Given the description of an element on the screen output the (x, y) to click on. 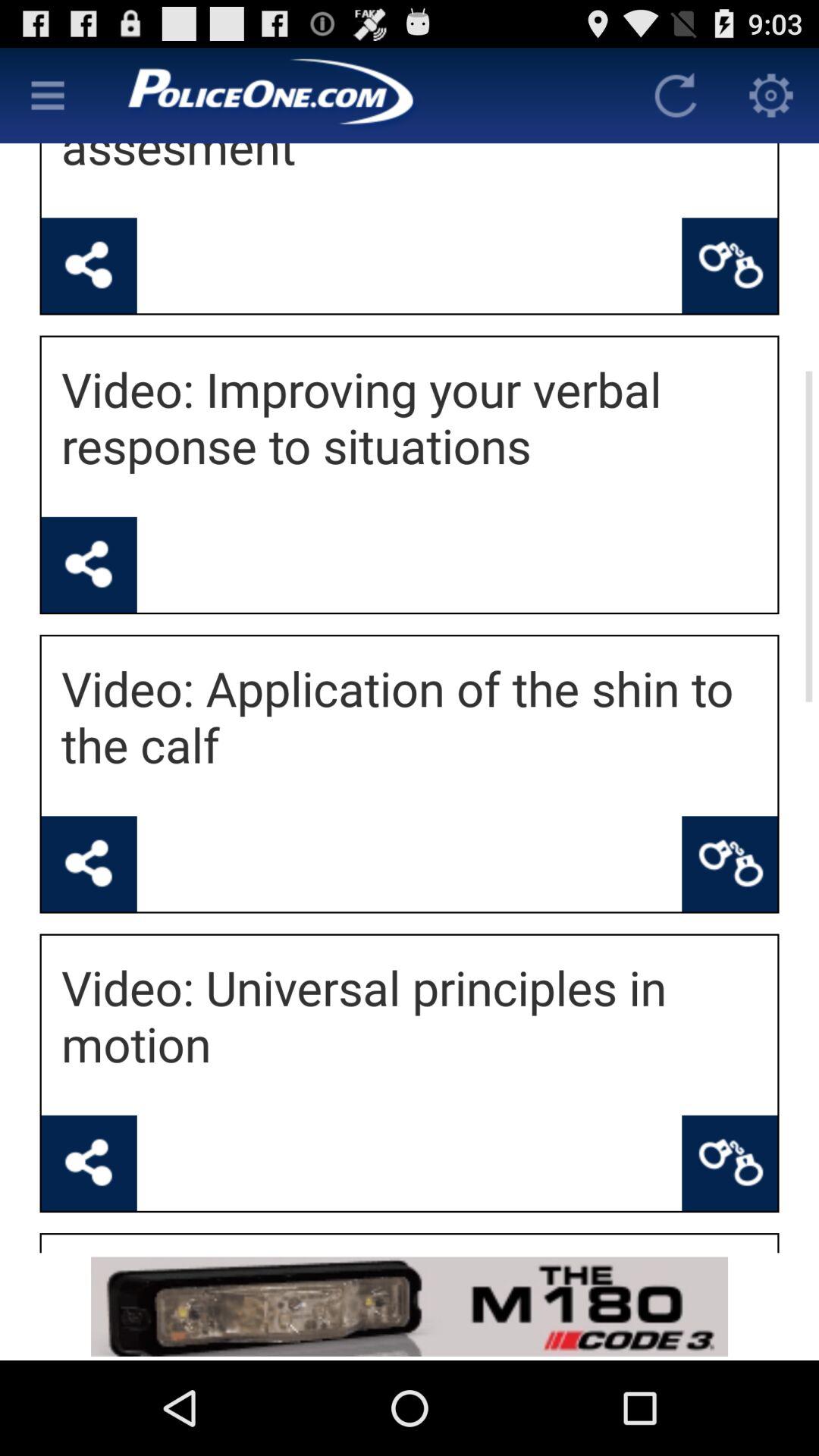
share video (89, 564)
